Given the description of an element on the screen output the (x, y) to click on. 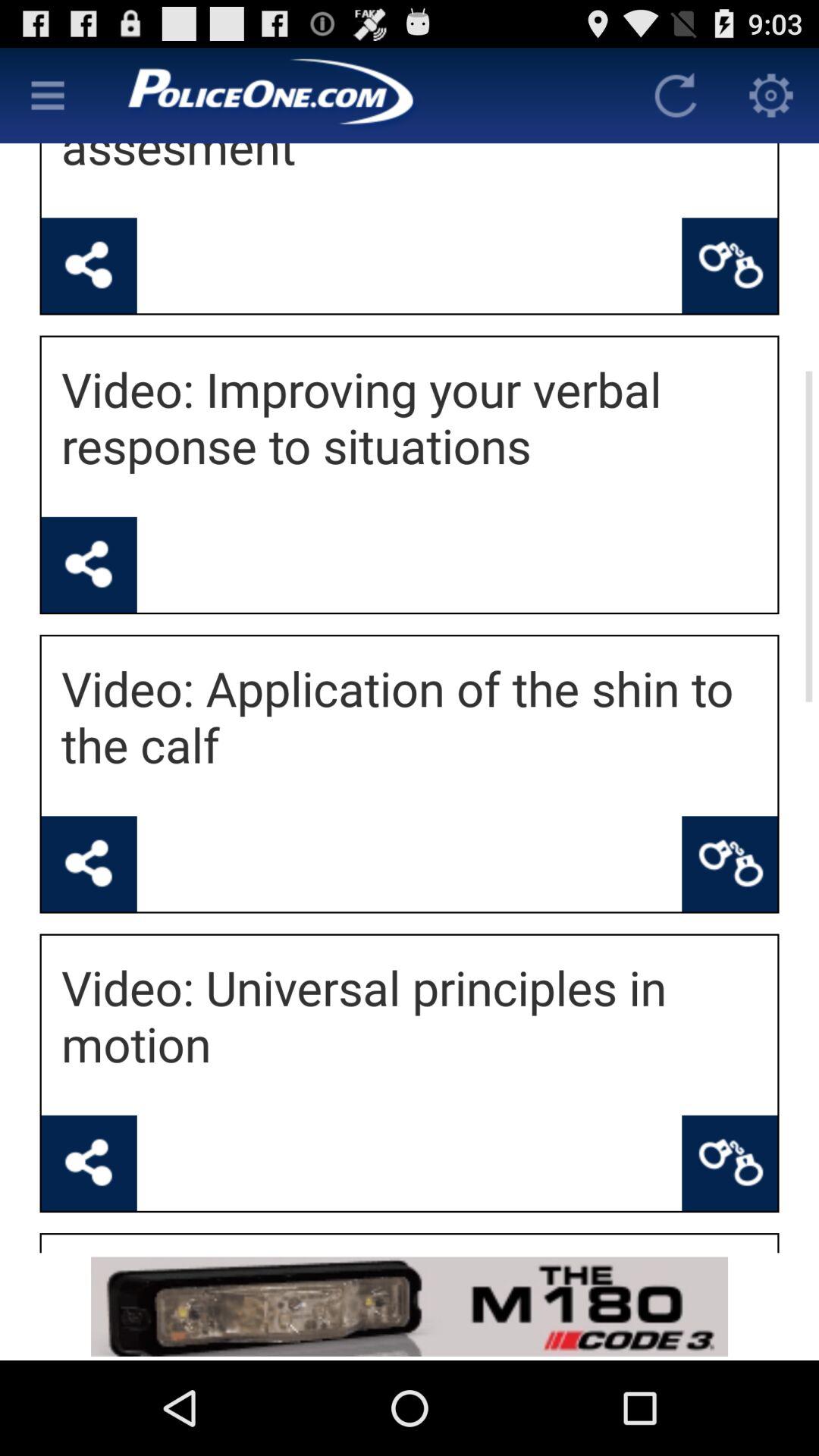
share video (89, 564)
